Given the description of an element on the screen output the (x, y) to click on. 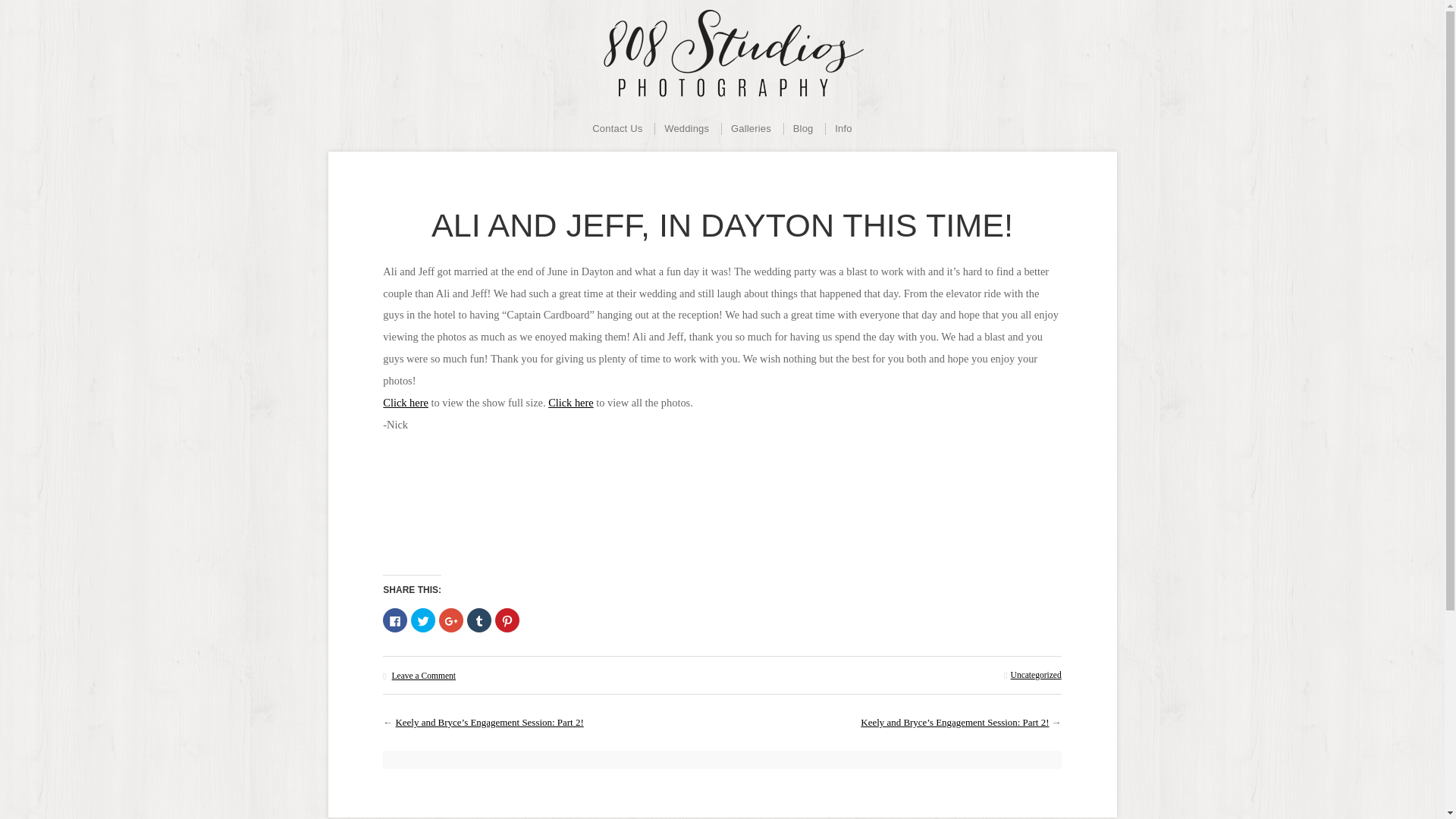
Click to share on Pinterest (507, 620)
Click to share on Tumblr (479, 620)
Contact Us (616, 128)
Galleries (750, 128)
Weddings (685, 128)
Blog (802, 128)
Click to share on Twitter (422, 620)
Click to share on Facebook (394, 620)
Uncategorized (1035, 674)
Click here (571, 402)
Leave a Comment (423, 675)
Info (842, 128)
Click here (405, 402)
